Given the description of an element on the screen output the (x, y) to click on. 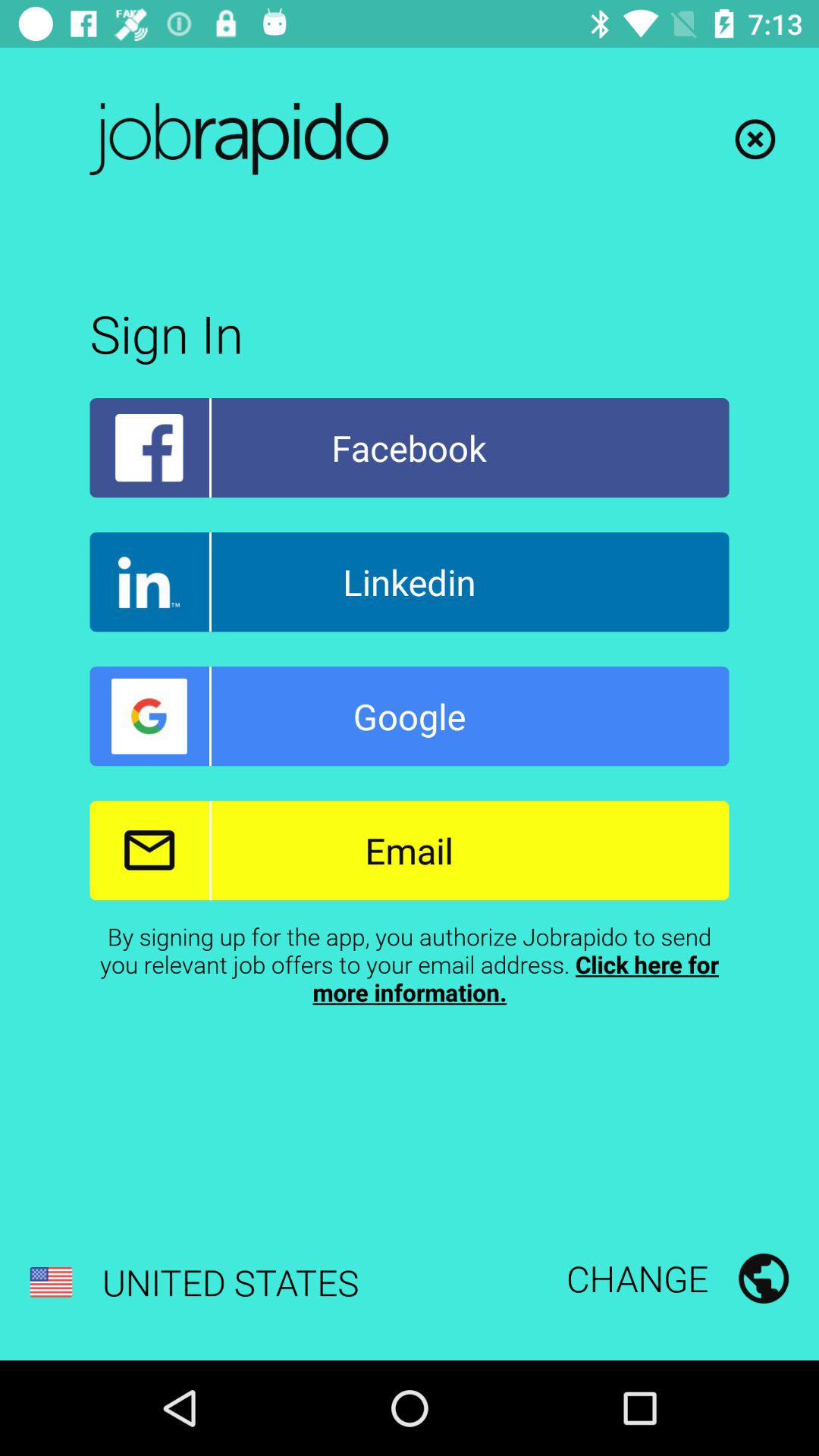
jump to by signing up (409, 964)
